Given the description of an element on the screen output the (x, y) to click on. 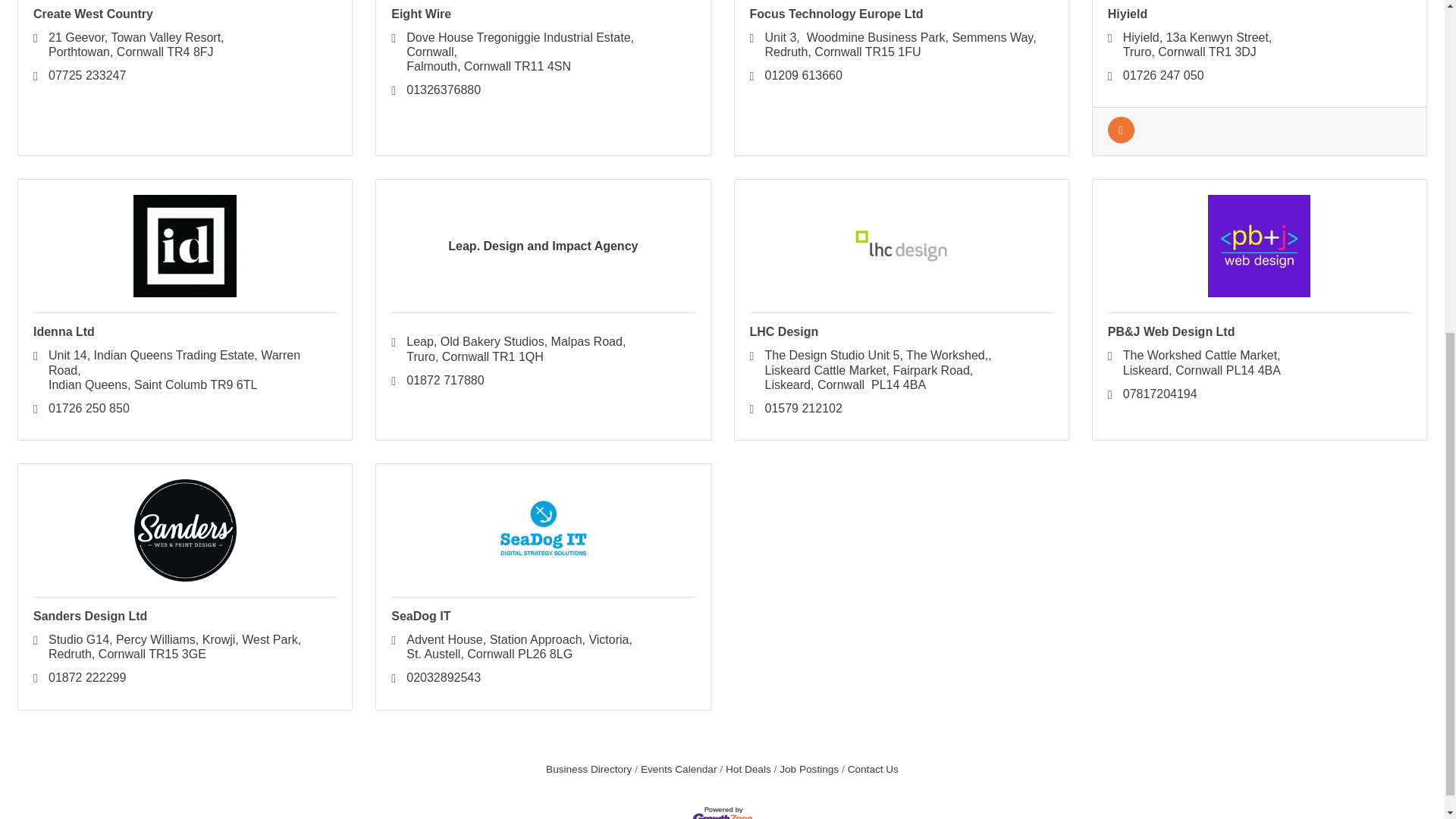
Create West Country (92, 13)
Eight Wire (421, 13)
News (1121, 138)
07725 233247 (86, 74)
Hiyield (1127, 13)
01326376880 (443, 89)
Focus Technology Europe Ltd (136, 44)
01726 247 050 (1197, 44)
01209 613660 (836, 13)
